Given the description of an element on the screen output the (x, y) to click on. 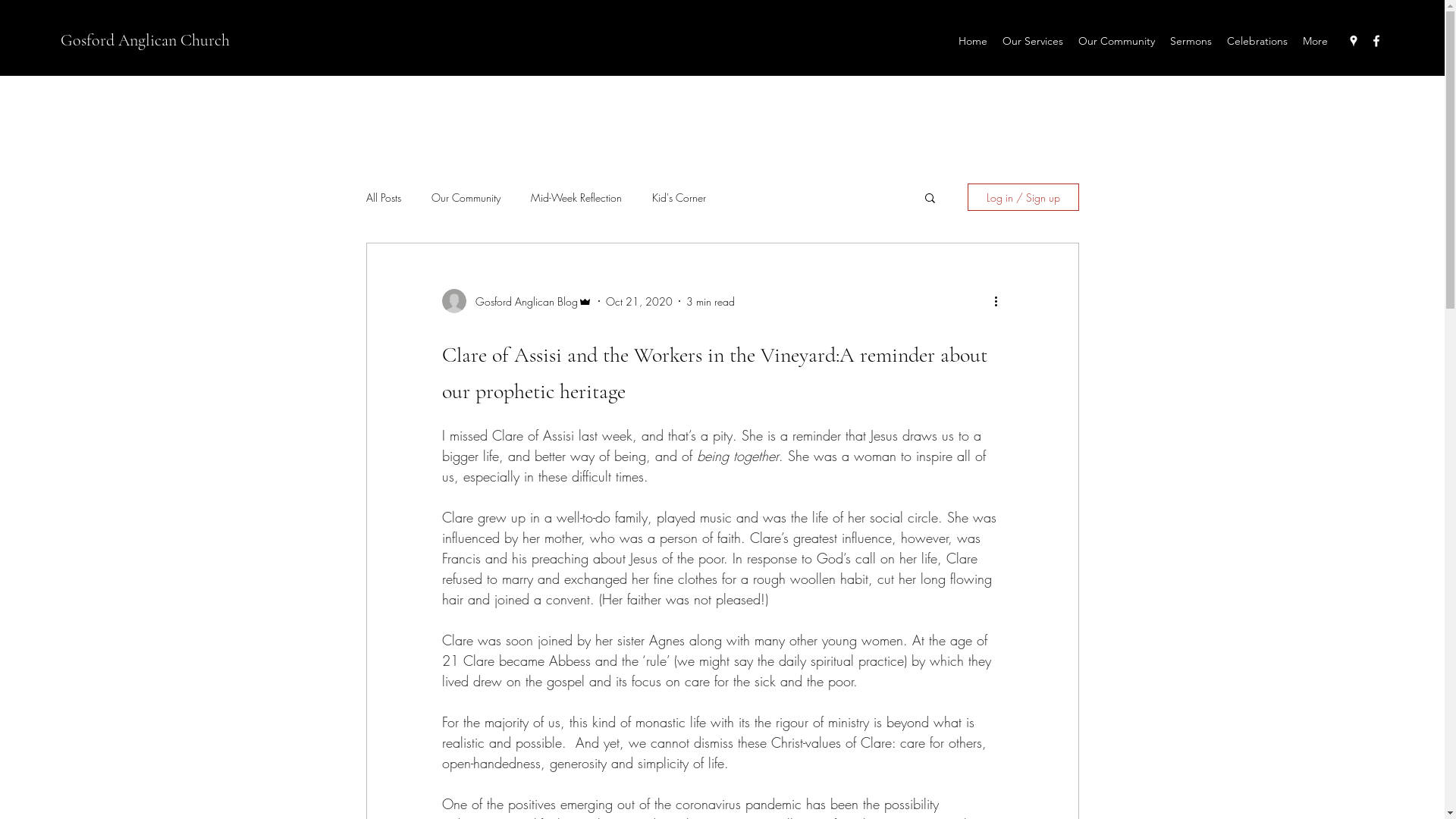
Sermons Element type: text (1190, 40)
All Posts Element type: text (382, 196)
Our Community Element type: text (464, 196)
Our Community Element type: text (1116, 40)
Gosford Anglican Church Element type: text (144, 40)
Kid's Corner Element type: text (679, 196)
Home Element type: text (972, 40)
Log in / Sign up Element type: text (1023, 196)
Our Services Element type: text (1032, 40)
Mid-Week Reflection Element type: text (575, 196)
